Given the description of an element on the screen output the (x, y) to click on. 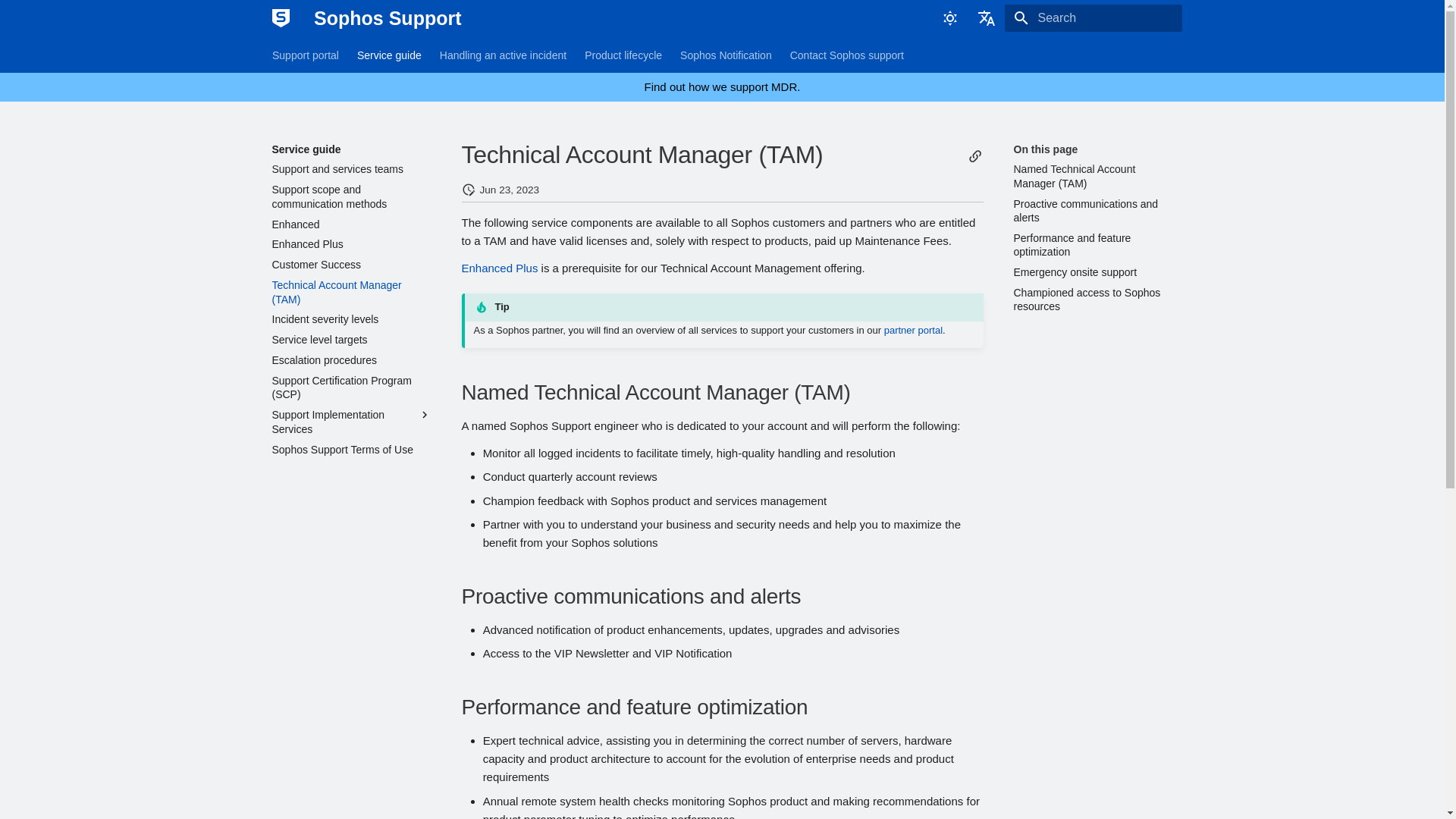
Customer Success (350, 264)
Support portal (303, 55)
Support and services teams (350, 169)
Service level targets (350, 339)
Find out how we support MDR. (722, 86)
Service guide (350, 149)
Incident severity levels (350, 318)
Sophos Support (279, 18)
Enhanced Plus (350, 243)
Enhanced (350, 223)
Sophos Support Terms of Use (350, 449)
Handling an active incident (502, 55)
Escalation procedures (350, 359)
Product lifecycle (623, 55)
Switch to dark mode (948, 18)
